Given the description of an element on the screen output the (x, y) to click on. 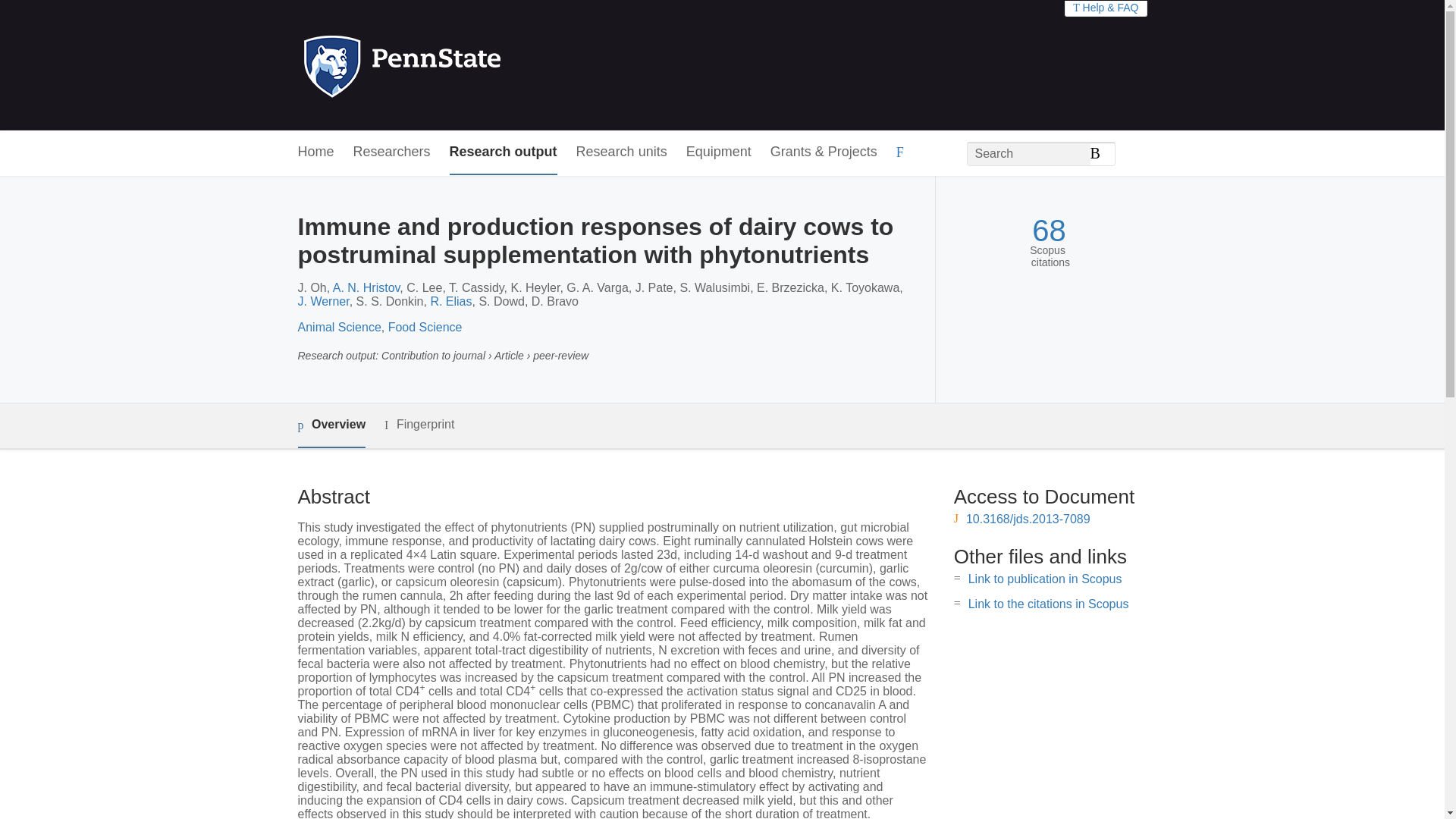
Equipment (718, 152)
Overview (331, 425)
Research output (503, 152)
Penn State Home (467, 65)
Link to the citations in Scopus (1048, 603)
R. Elias (450, 300)
J. Werner (323, 300)
68 (1048, 230)
Link to publication in Scopus (1045, 578)
Research units (621, 152)
Food Science (425, 327)
Fingerprint (419, 424)
A. N. Hristov (366, 287)
Researchers (391, 152)
